Given the description of an element on the screen output the (x, y) to click on. 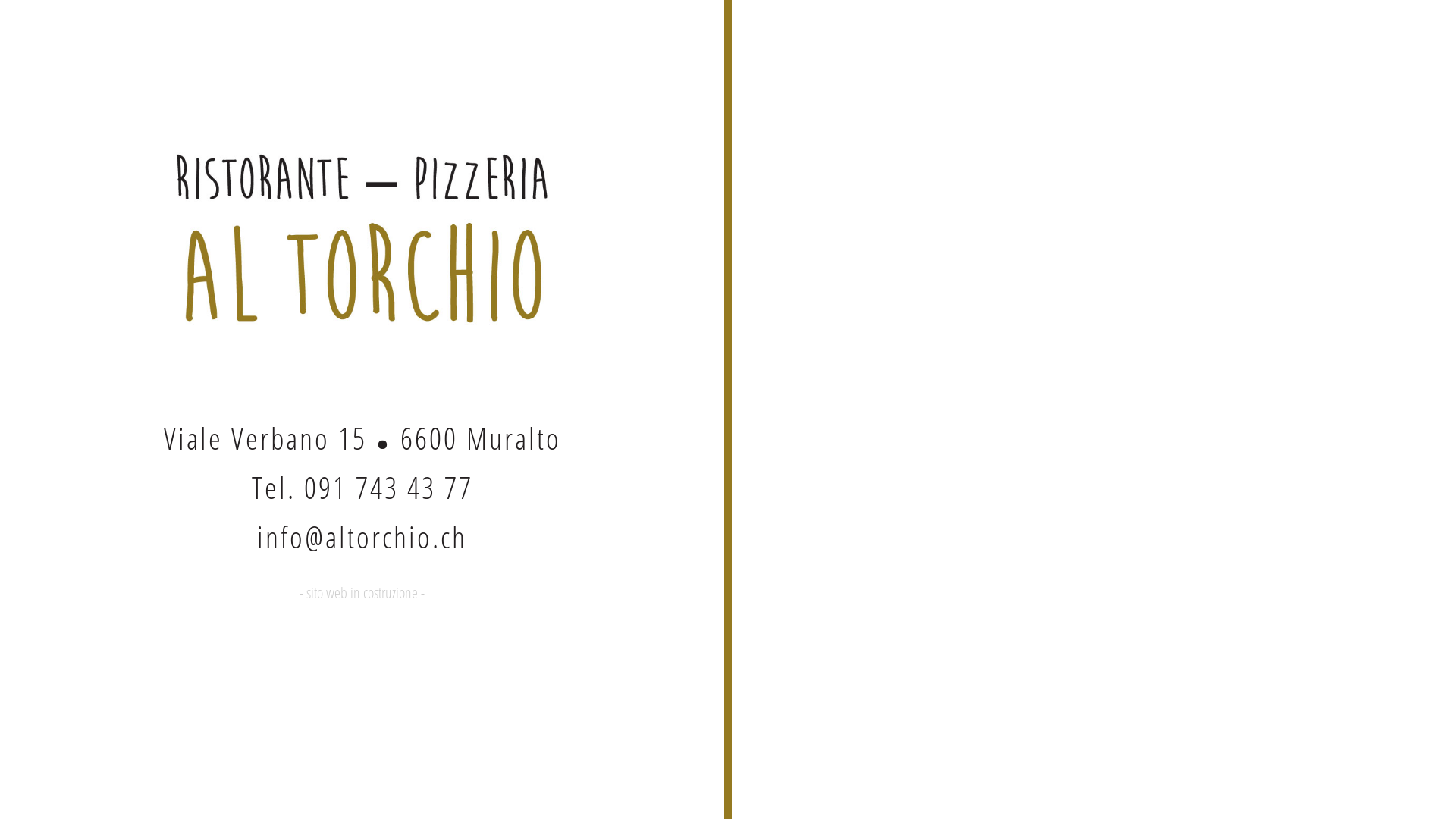
info@altorchio.ch Element type: text (362, 536)
Tel. 091 743 43 77 Element type: text (362, 487)
